Given the description of an element on the screen output the (x, y) to click on. 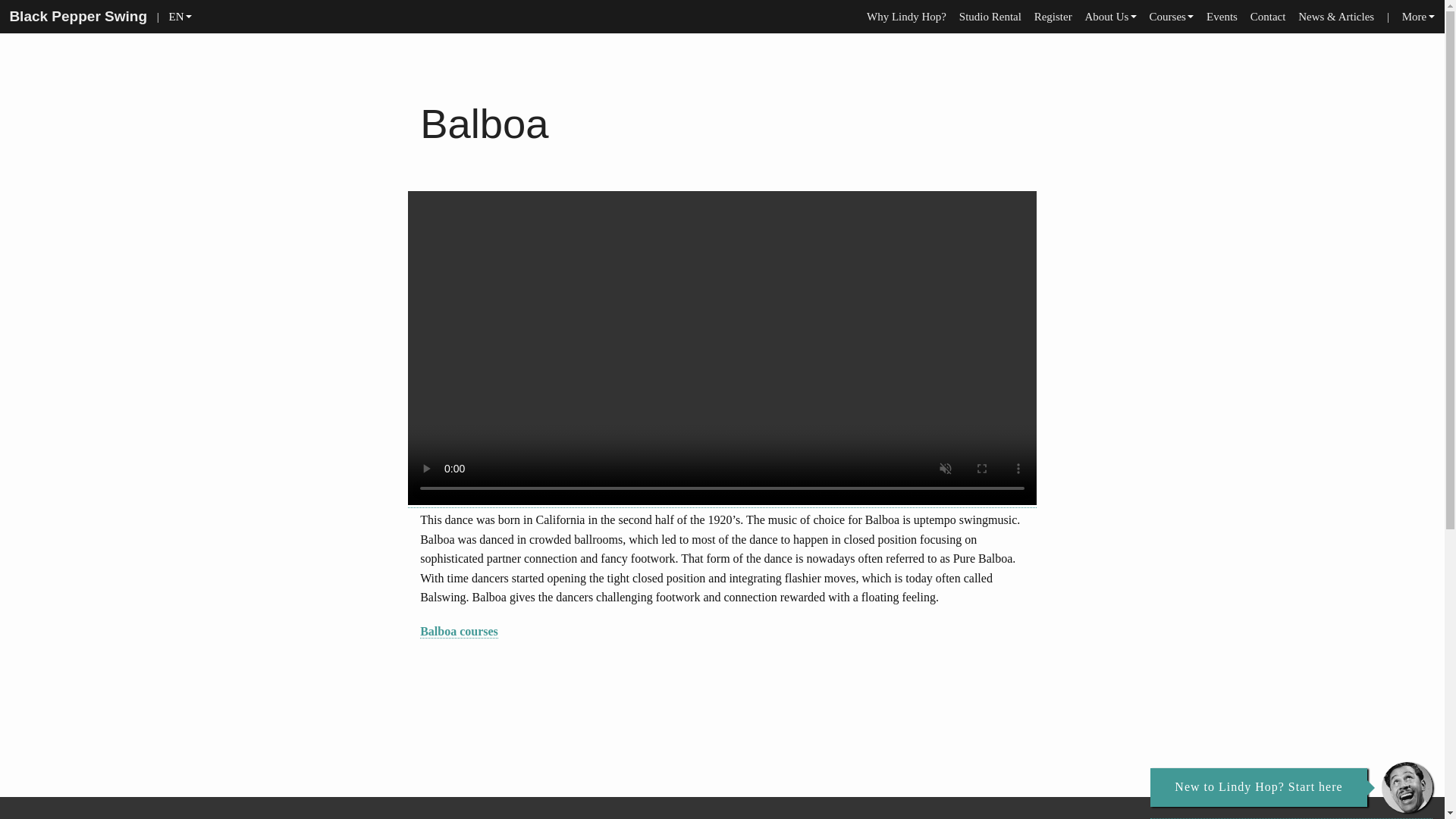
Courses (1171, 16)
Schedule (1168, 43)
Beginners (1168, 67)
Shop (1415, 43)
FI (177, 67)
Balboa courses (458, 631)
Info (1108, 115)
Roadmap (1168, 91)
About Us (1110, 16)
New to Lindy Hop? Start here (1258, 787)
